Given the description of an element on the screen output the (x, y) to click on. 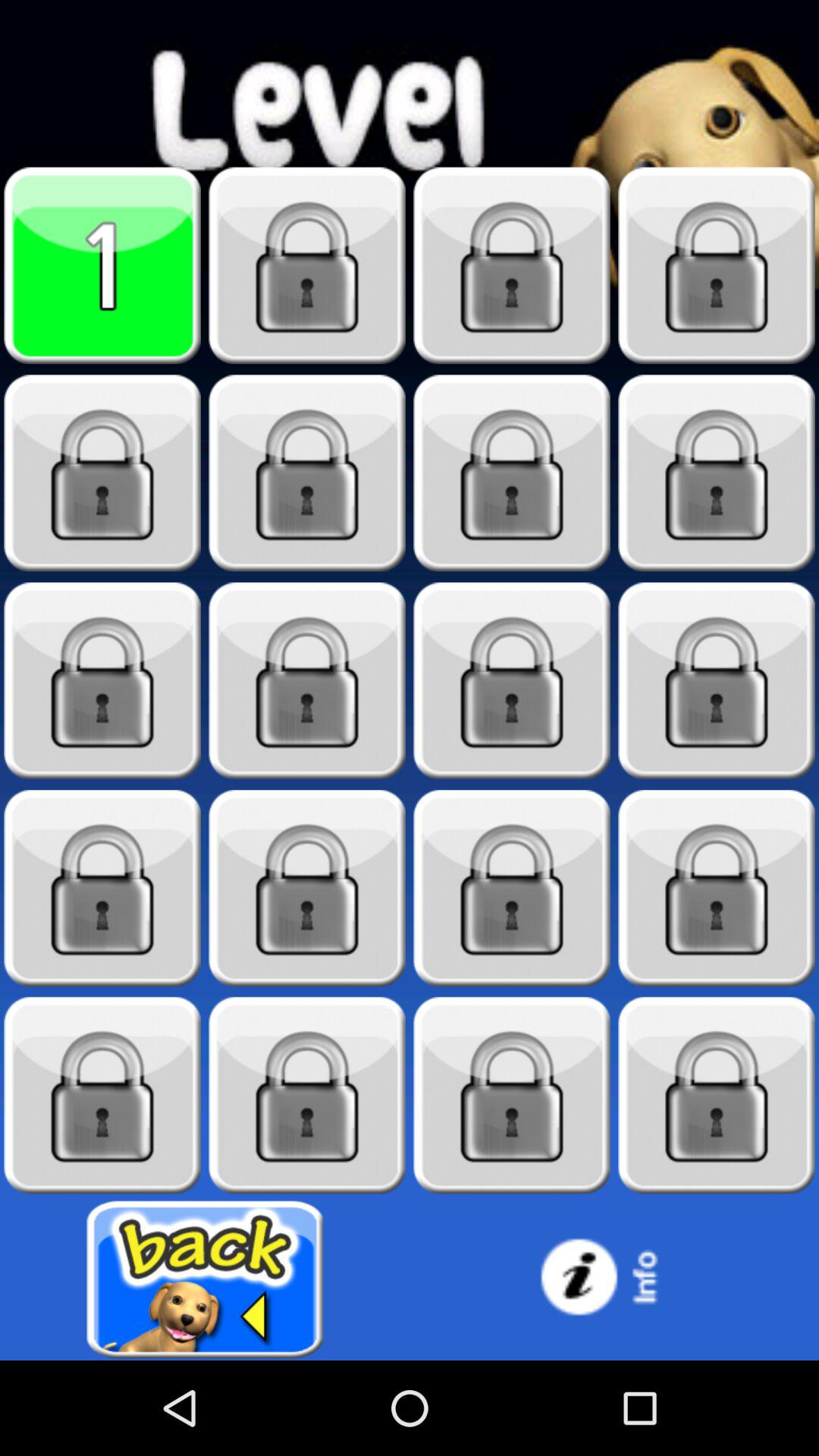
level 13 locked (102, 887)
